Given the description of an element on the screen output the (x, y) to click on. 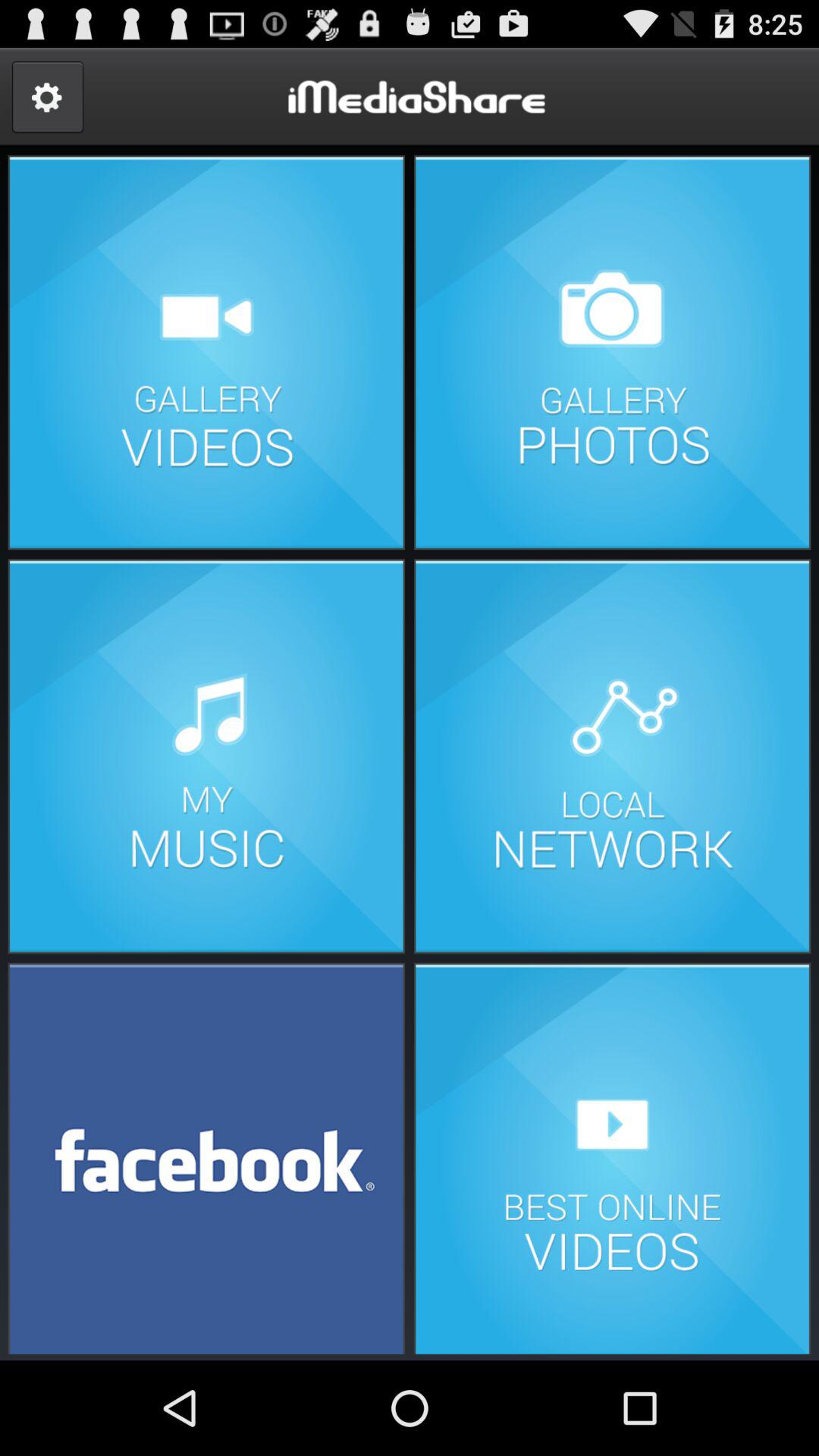
open options (47, 97)
